Given the description of an element on the screen output the (x, y) to click on. 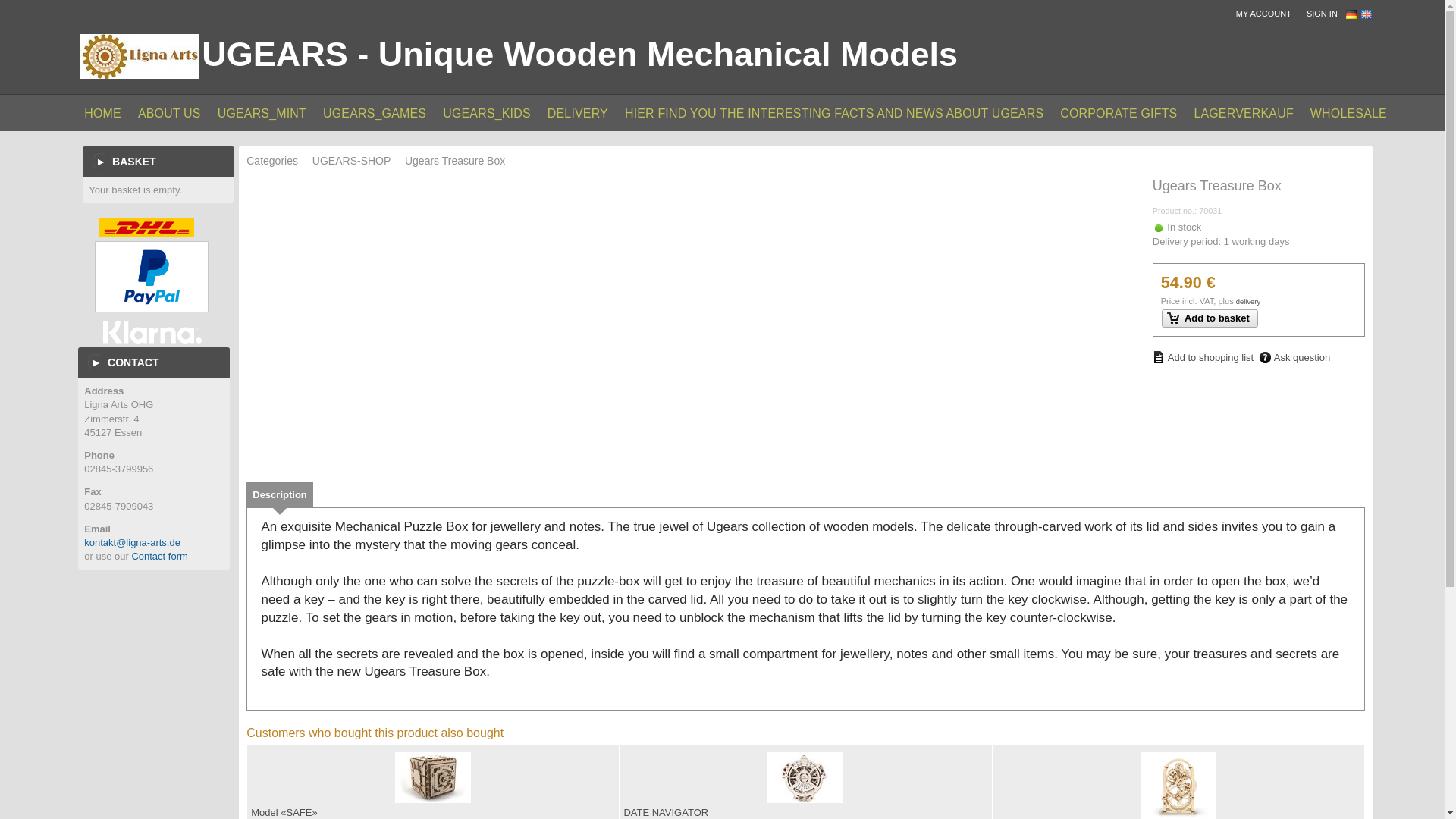
LAGERVERKAUF (1243, 112)
UGEARS - Unique Wooden Mechanical Models (139, 56)
UGEARS - Unique Wooden Mechanical Models (580, 54)
Add to shopping list (1203, 357)
DHL (146, 227)
ABOUT US (169, 112)
Contact form (159, 555)
HIER FIND YOU THE INTERESTING FACTS AND NEWS ABOUT UGEARS (834, 112)
MY ACCOUNT (1267, 14)
Add to basket (1209, 318)
Categories (278, 160)
SIGN IN (1325, 14)
Ask question (1294, 358)
UGEARS-SHOP (358, 160)
This shop supports payment via PayPal. (151, 276)
